Given the description of an element on the screen output the (x, y) to click on. 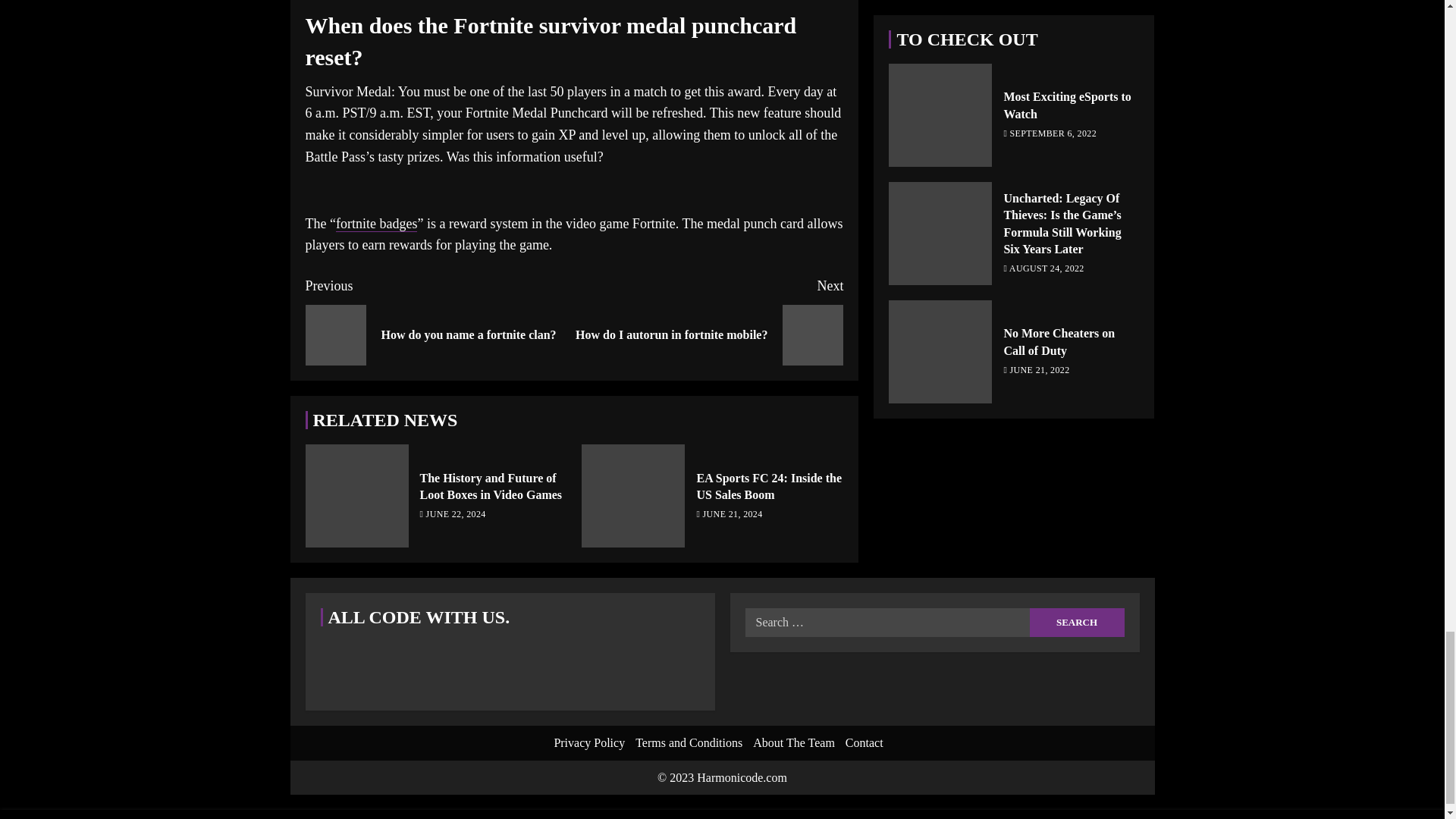
EA Sports FC 24: Inside the US Sales Boom (438, 320)
Search (632, 495)
The History and Future of Loot Boxes in Video Games (1076, 622)
EA Sports FC 24: Inside the US Sales Boom (491, 485)
Search (768, 485)
The History and Future of Loot Boxes in Video Games (1076, 622)
fortnite badges (708, 320)
